Given the description of an element on the screen output the (x, y) to click on. 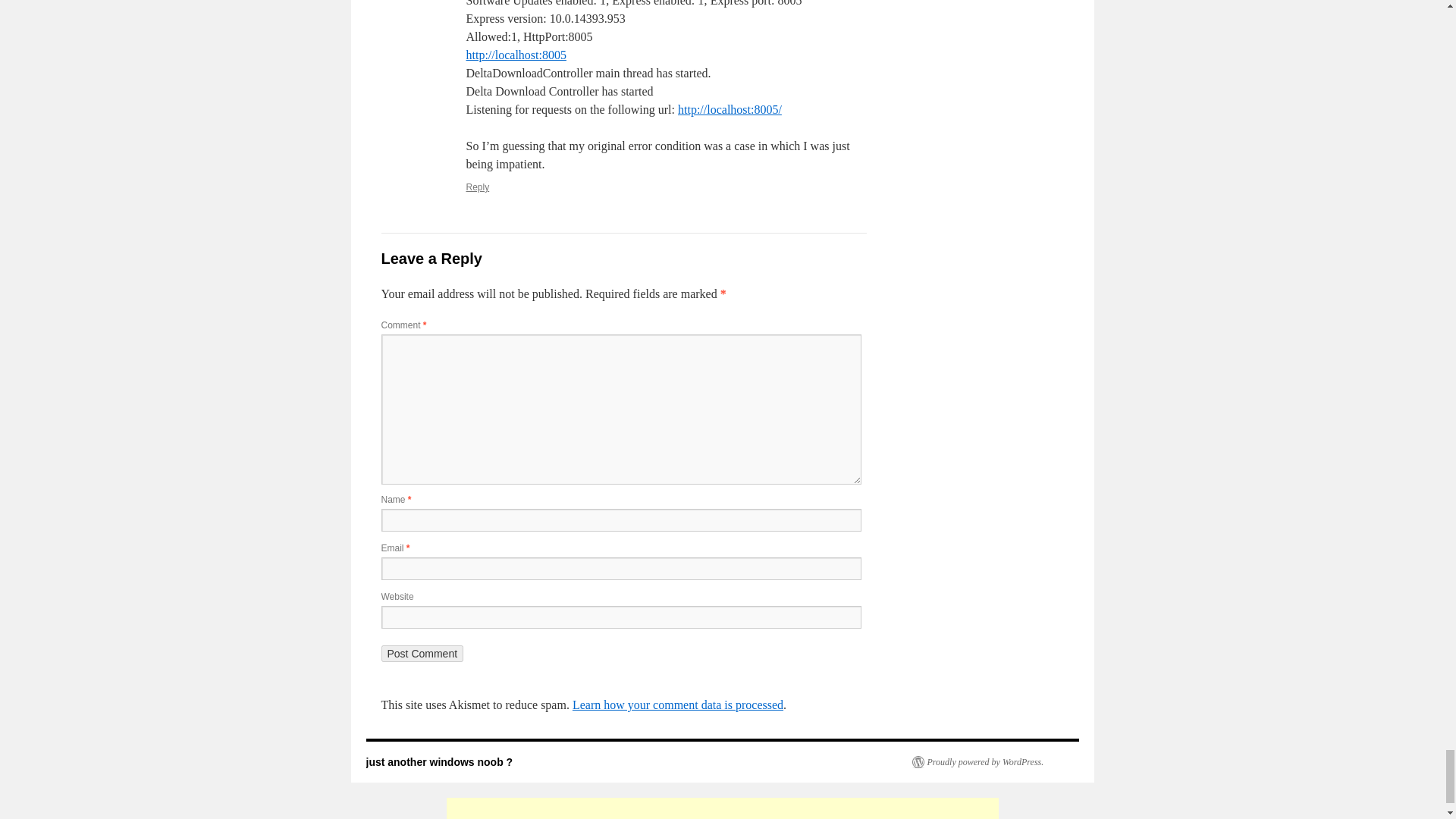
Post Comment (421, 653)
